Given the description of an element on the screen output the (x, y) to click on. 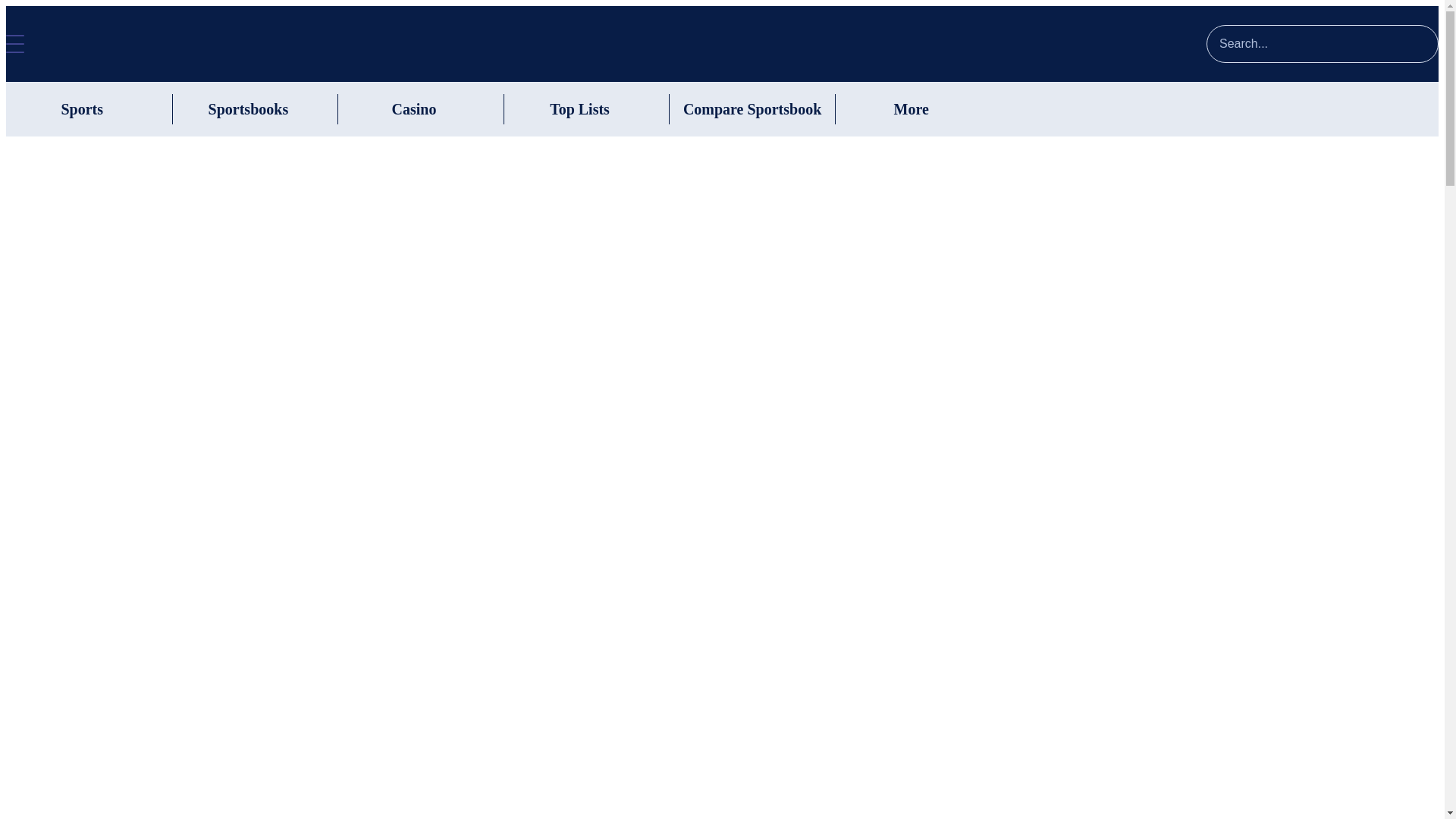
Sportsbooks (248, 108)
Casino (413, 108)
Top Lists (580, 108)
Sports (82, 108)
